Given the description of an element on the screen output the (x, y) to click on. 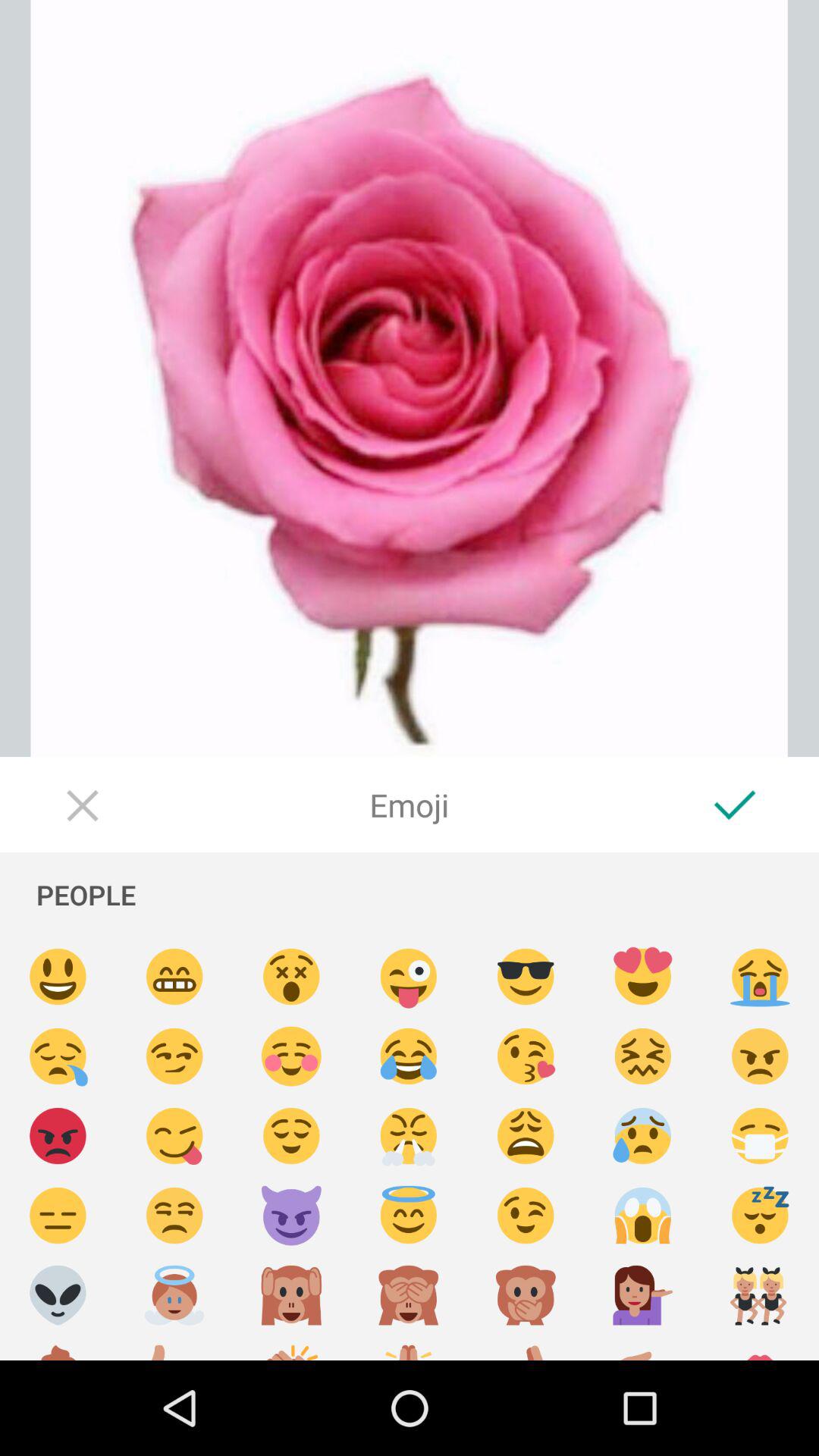
add emoji (408, 1136)
